Given the description of an element on the screen output the (x, y) to click on. 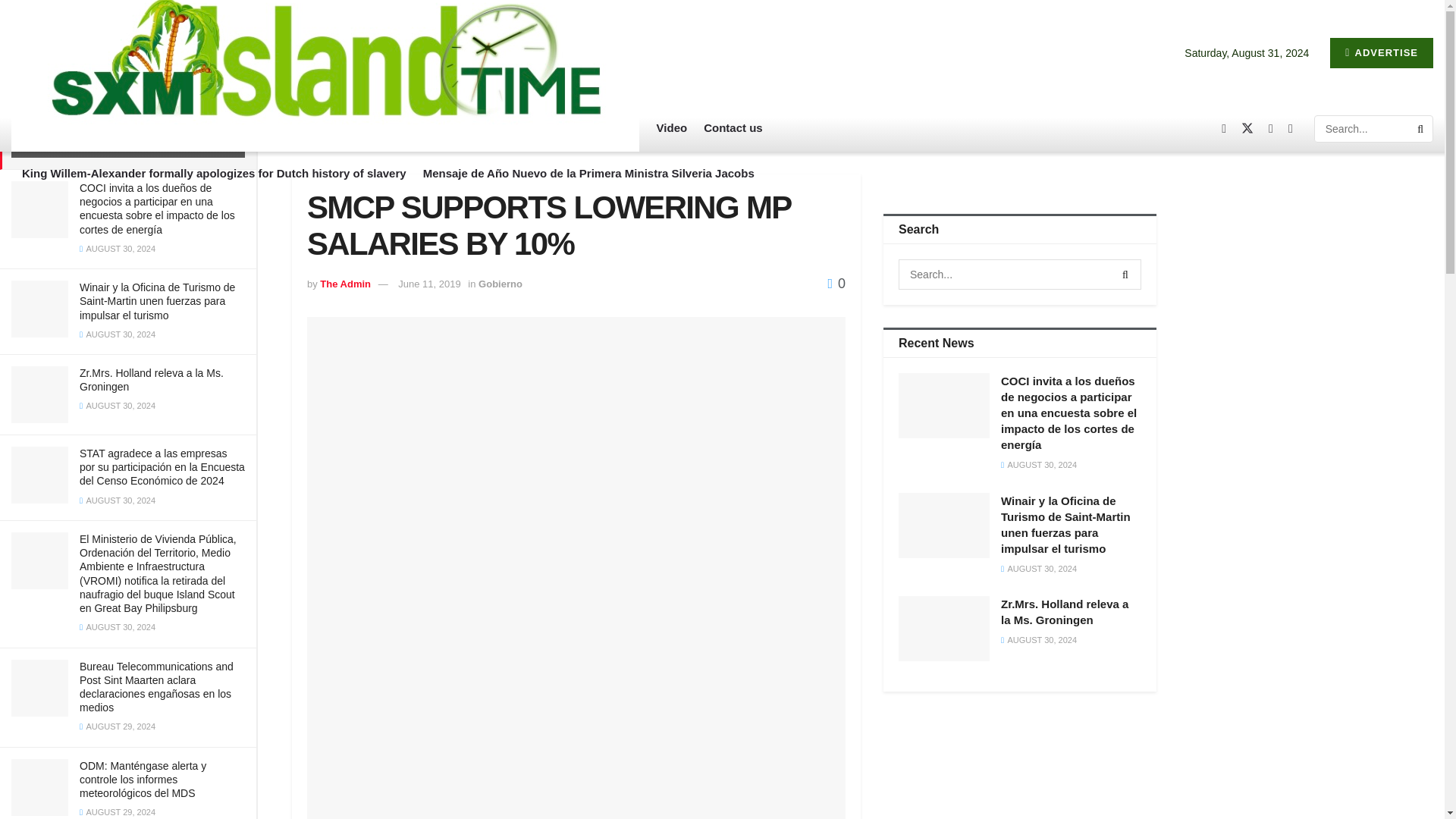
ADVERTISE (1381, 52)
ACTUALIDAD (106, 126)
NOSOTROS EN SINT MAARTEN (505, 126)
Zr.Mrs. Holland releva a la Ms. Groningen (152, 379)
Contact us (732, 126)
Gobierno (276, 126)
English News (198, 126)
Imagen den dia (359, 126)
